Given the description of an element on the screen output the (x, y) to click on. 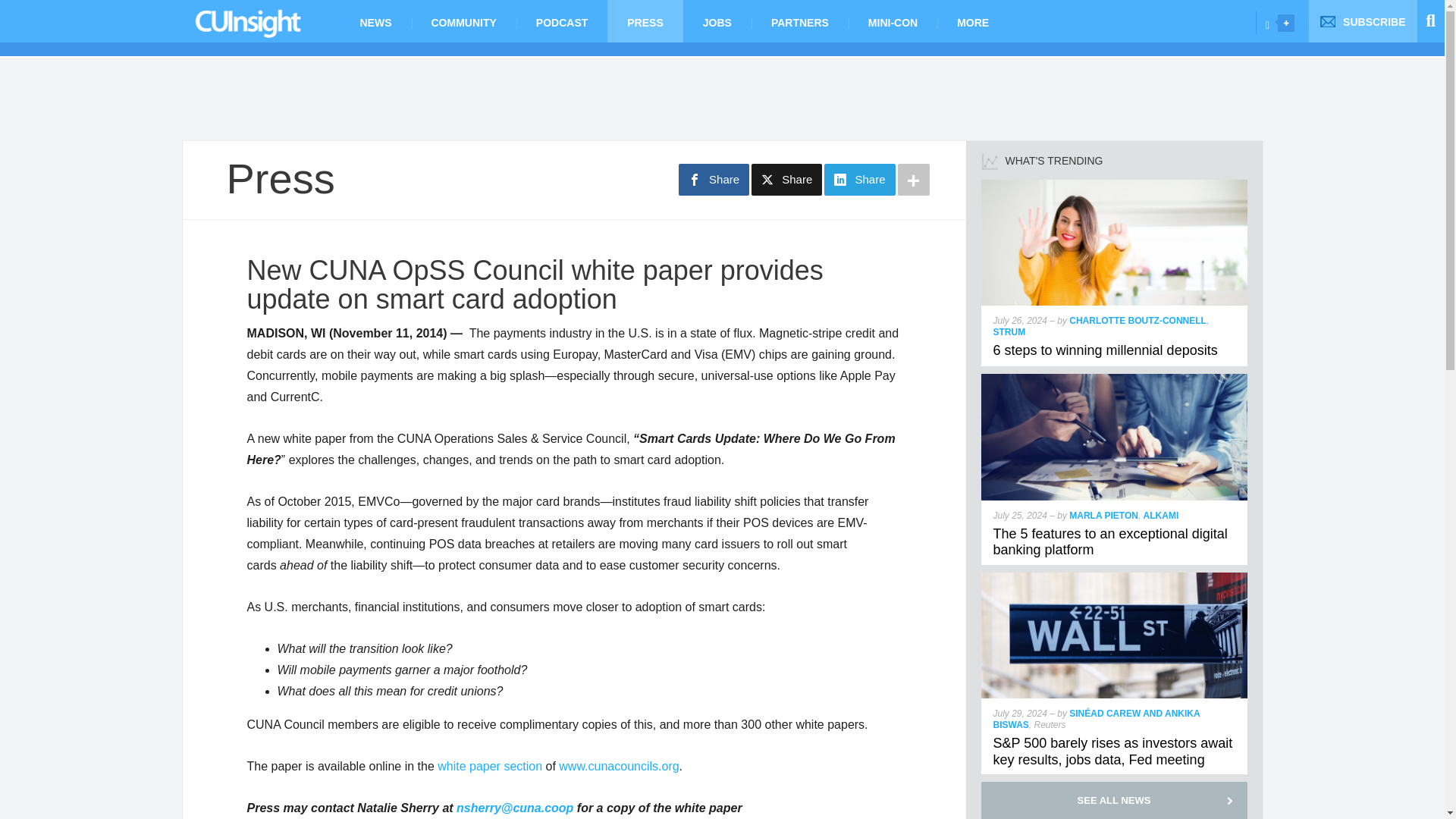
PRESS (644, 21)
MINI-CON (892, 21)
The 5 features to an exceptional digital banking platform (1114, 379)
SUBSCRIBE (1362, 21)
Opener (1286, 22)
Press (279, 178)
The 5 features to an exceptional digital banking platform (1109, 541)
NEWS (374, 21)
PARTNERS (799, 21)
6 steps to winning millennial deposits (1104, 350)
JOBS (716, 21)
Share (859, 179)
COMMUNITY (462, 21)
PODCAST (561, 21)
MORE (973, 21)
